Given the description of an element on the screen output the (x, y) to click on. 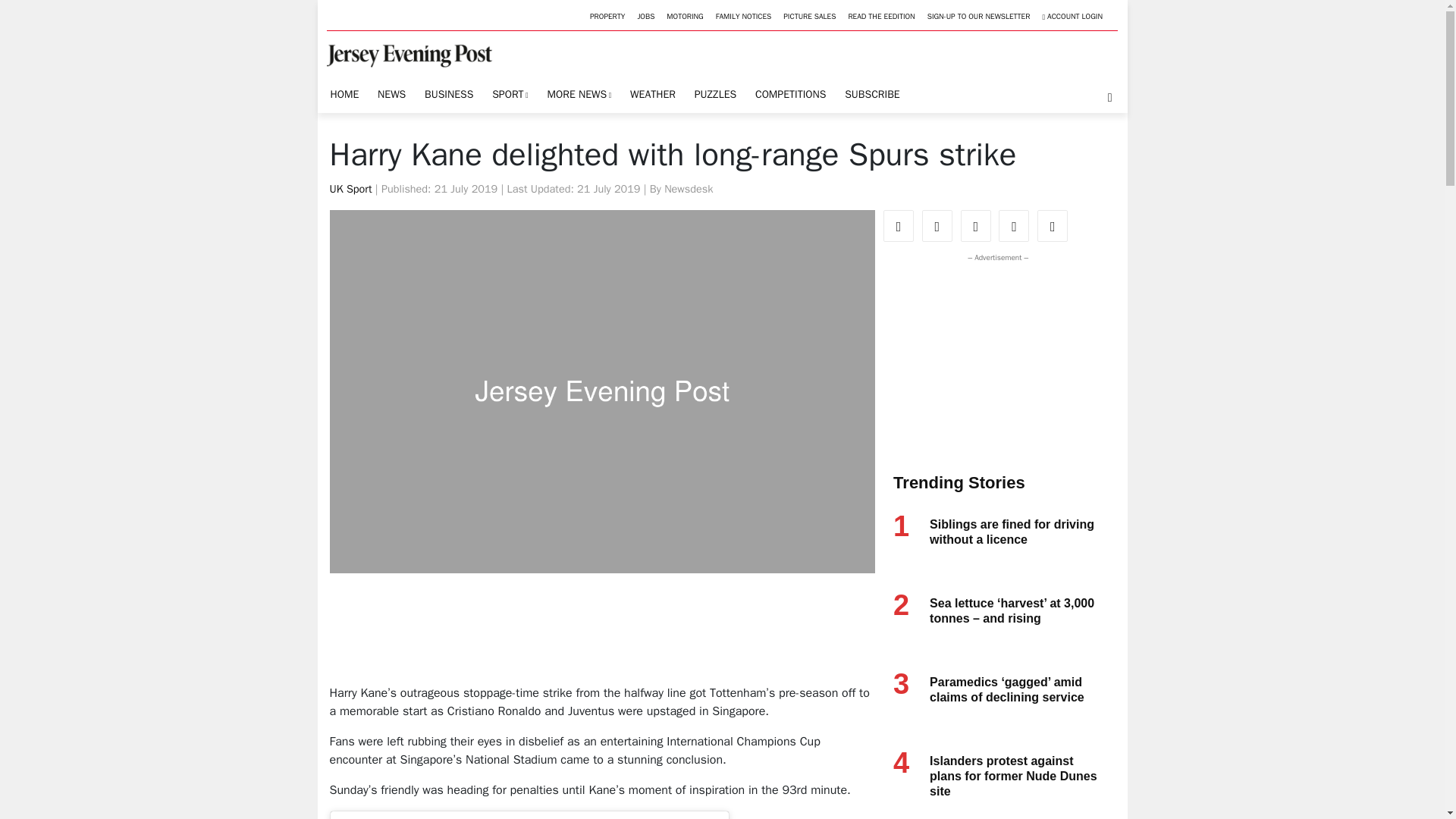
READ THE EEDITION (880, 16)
BUSINESS (448, 94)
ACCOUNT LOGIN (1071, 16)
FAMILY NOTICES (743, 16)
WEATHER (652, 94)
PROPERTY (606, 16)
3rd party ad content (994, 360)
SIGN-UP TO OUR NEWSLETTER (978, 16)
3rd party ad content (604, 634)
MOTORING (685, 16)
PICTURE SALES (809, 16)
MORE NEWS (579, 94)
PUZZLES (714, 94)
SUBSCRIBE (871, 94)
NEWS (391, 94)
